Given the description of an element on the screen output the (x, y) to click on. 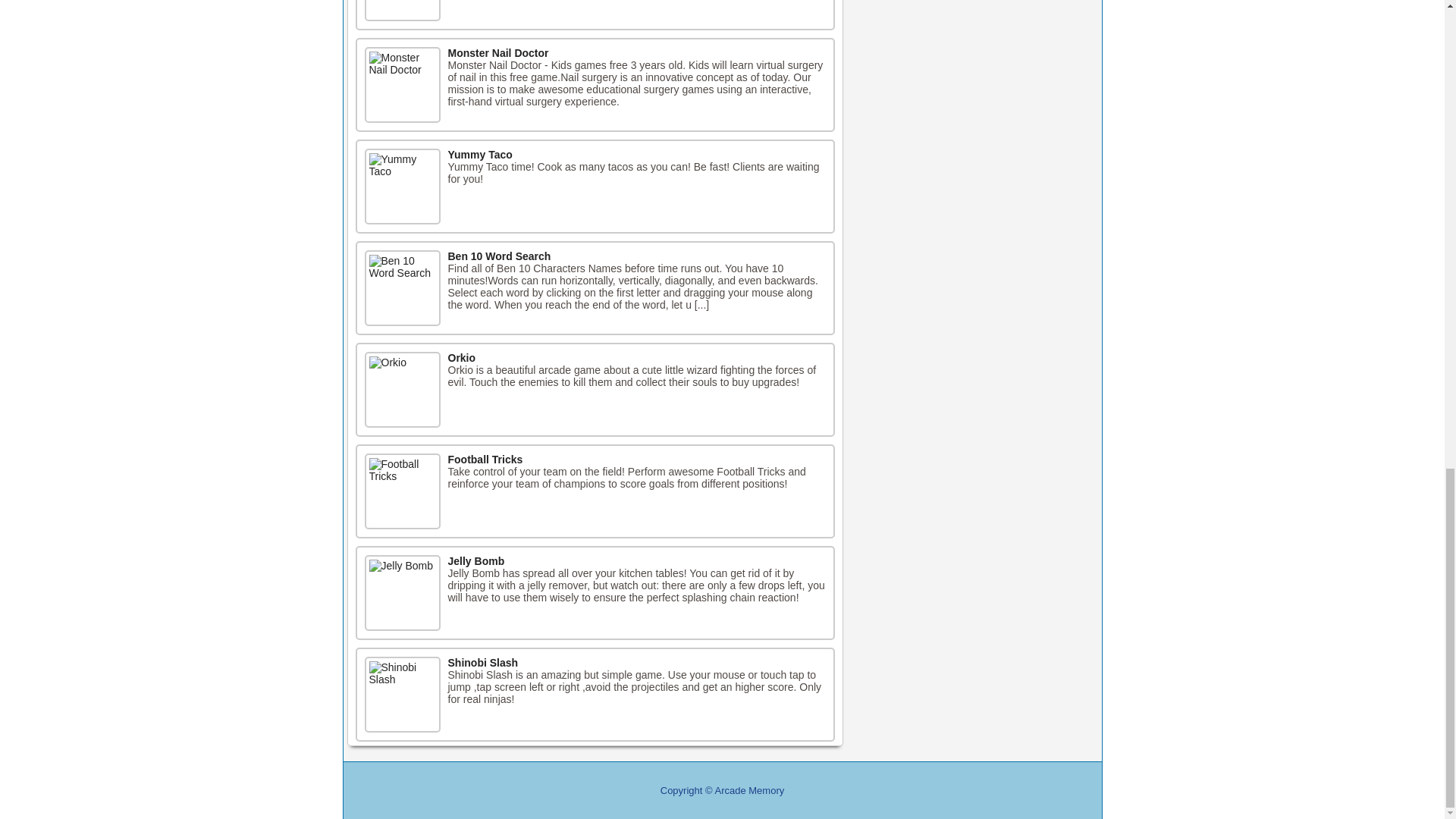
Yummy Taco (479, 154)
Jelly Bomb (474, 561)
Orkio (461, 357)
Monster Nail Doctor (497, 52)
Ben 10 Word Search (498, 256)
Shinobi Slash (482, 662)
Football Tricks (484, 459)
